Given the description of an element on the screen output the (x, y) to click on. 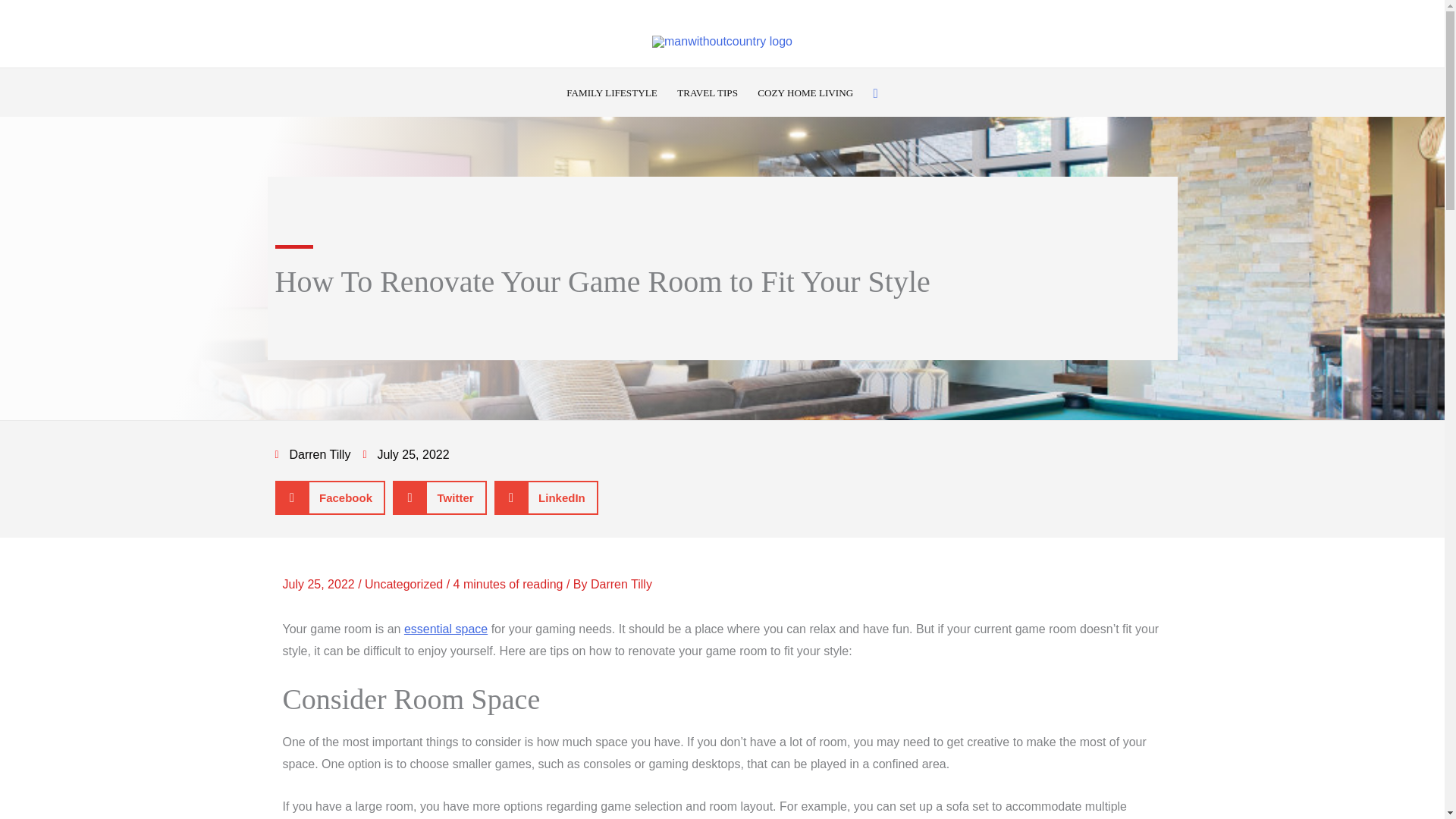
Darren Tilly (621, 584)
Darren Tilly (312, 454)
COZY HOME LIVING (805, 93)
View all posts by Darren Tilly (621, 584)
essential space (445, 628)
Uncategorized (403, 584)
July 25, 2022 (405, 454)
TRAVEL TIPS (707, 93)
FAMILY LIFESTYLE (611, 93)
